Given the description of an element on the screen output the (x, y) to click on. 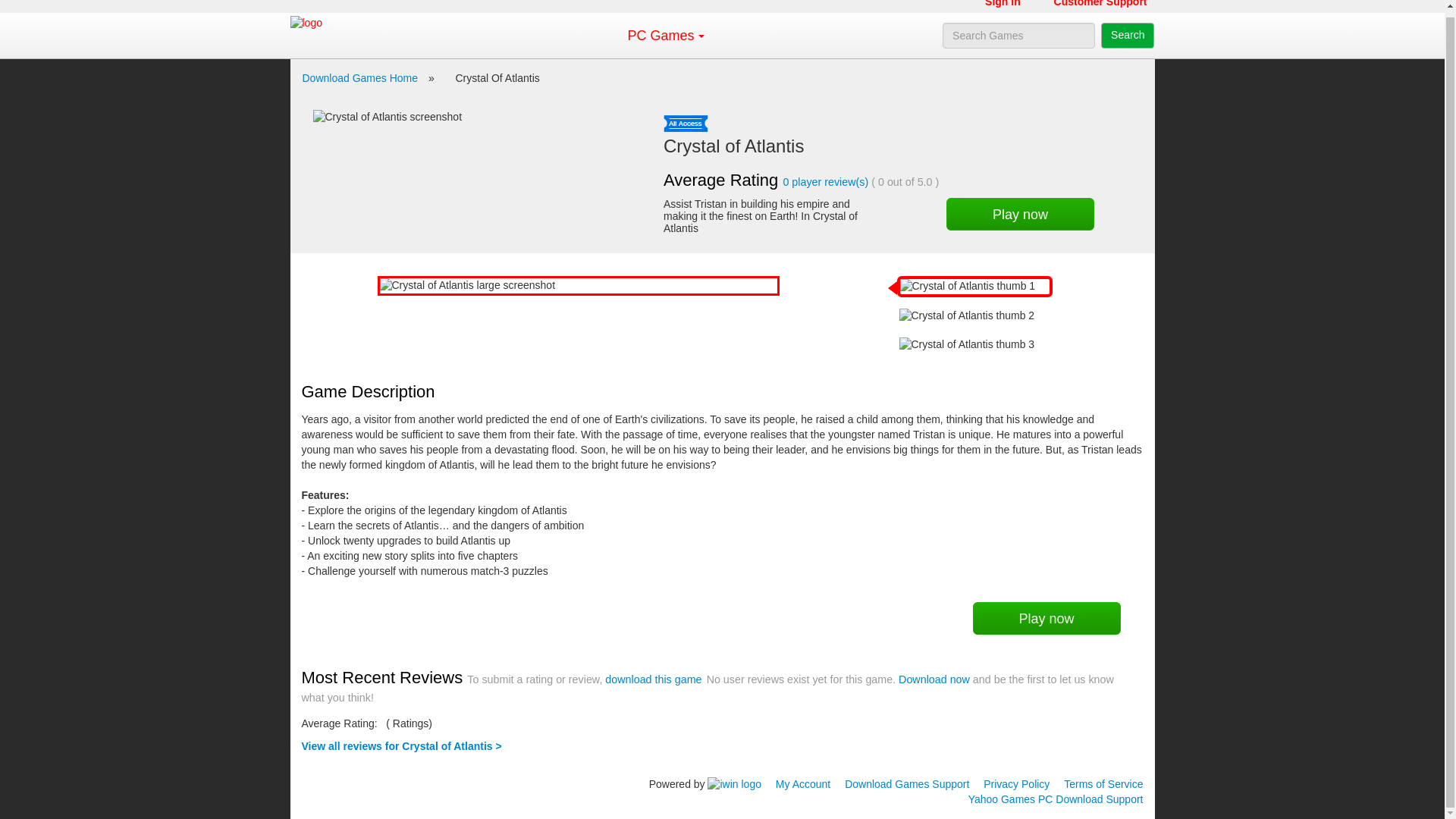
Download Games Support (906, 784)
My Account (802, 784)
Download now (933, 679)
PC Games (660, 35)
Sign In (1001, 6)
download this game (653, 679)
Unlimited Play - no ads (685, 123)
Download Games Support (906, 784)
Download Games Home (359, 78)
Play now (1045, 617)
Play now (1020, 214)
Customer Support (1100, 6)
My Account (802, 784)
Our Downloads Are Safe And Secure (325, 779)
Yahoo Games PC Download Support (1055, 799)
